Given the description of an element on the screen output the (x, y) to click on. 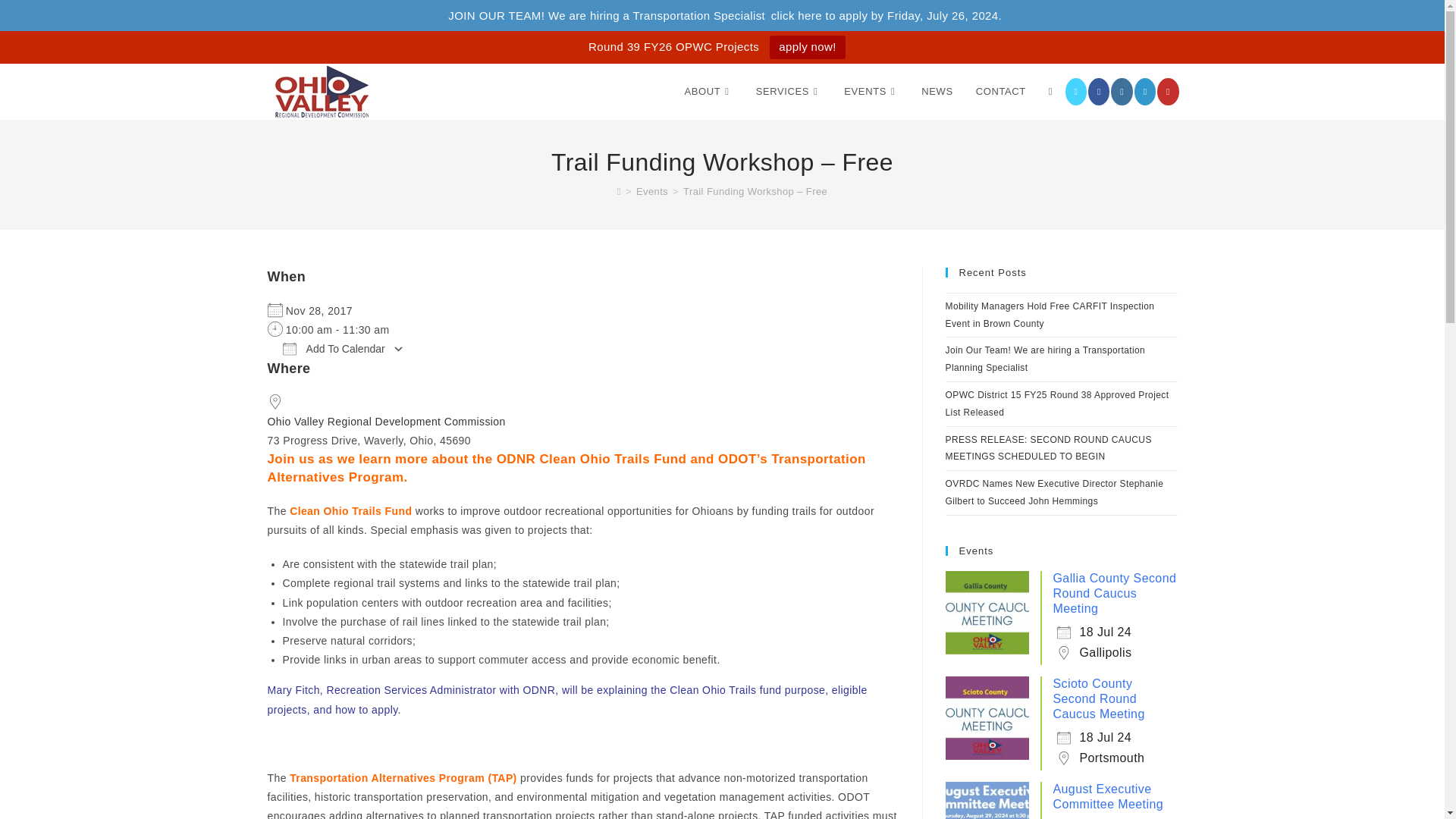
ABOUT (708, 91)
apply now! (807, 47)
SERVICES (788, 91)
